Given the description of an element on the screen output the (x, y) to click on. 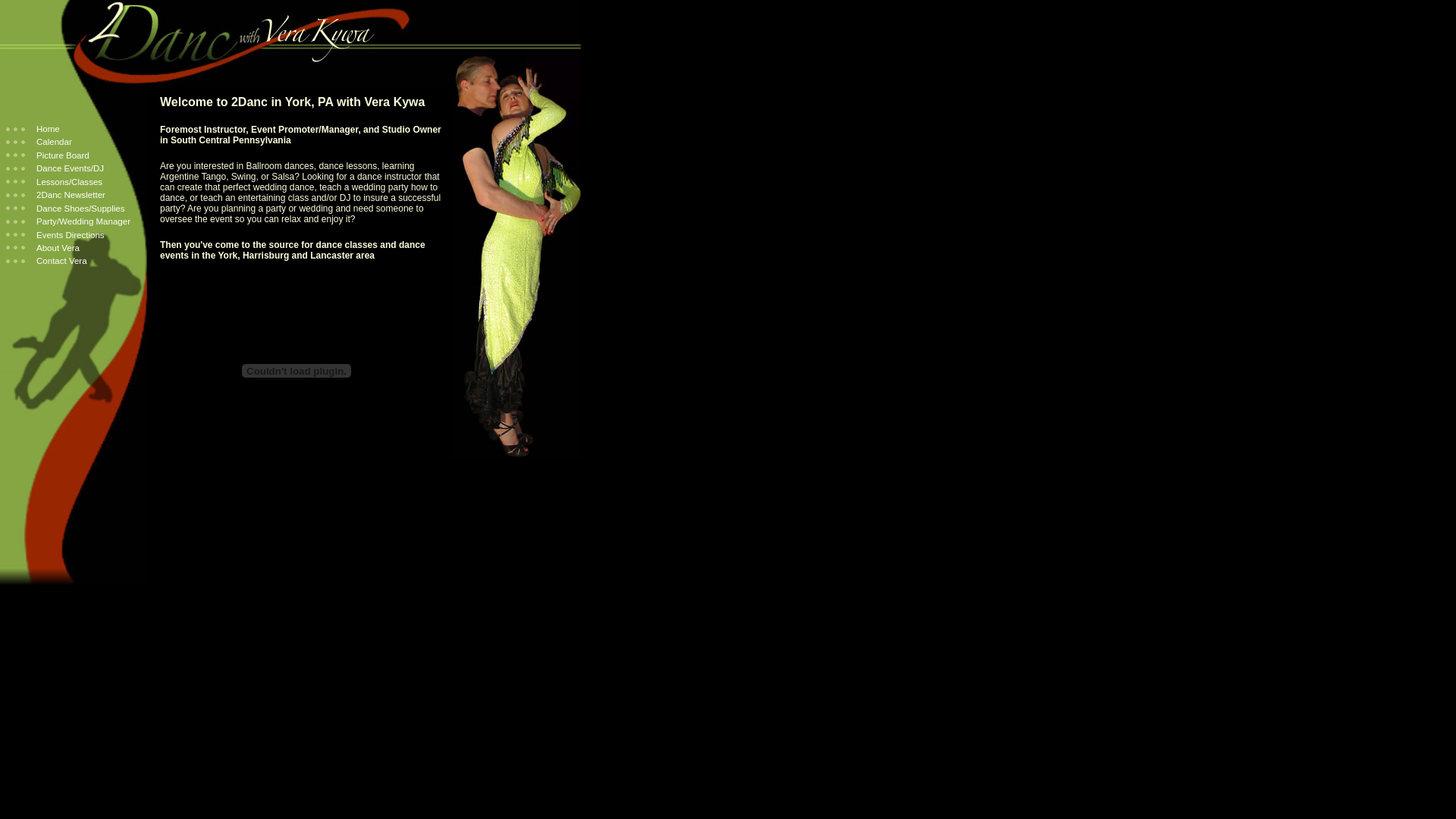
Party/Wedding Manager Element type: text (68, 220)
2Danc Newsletter Element type: text (55, 194)
Dance Events/DJ Element type: text (54, 167)
Home Element type: text (32, 128)
Contact Vera Element type: text (46, 260)
Dance Shoes/Supplies Element type: text (65, 208)
Picture Board Element type: text (47, 155)
About Vera Element type: text (42, 247)
Lessons/Classes Element type: text (54, 181)
Events Directions Element type: text (55, 234)
Calendar Element type: text (39, 141)
2Danc with Vera Kywa Home Element type: hover (290, 43)
